Given the description of an element on the screen output the (x, y) to click on. 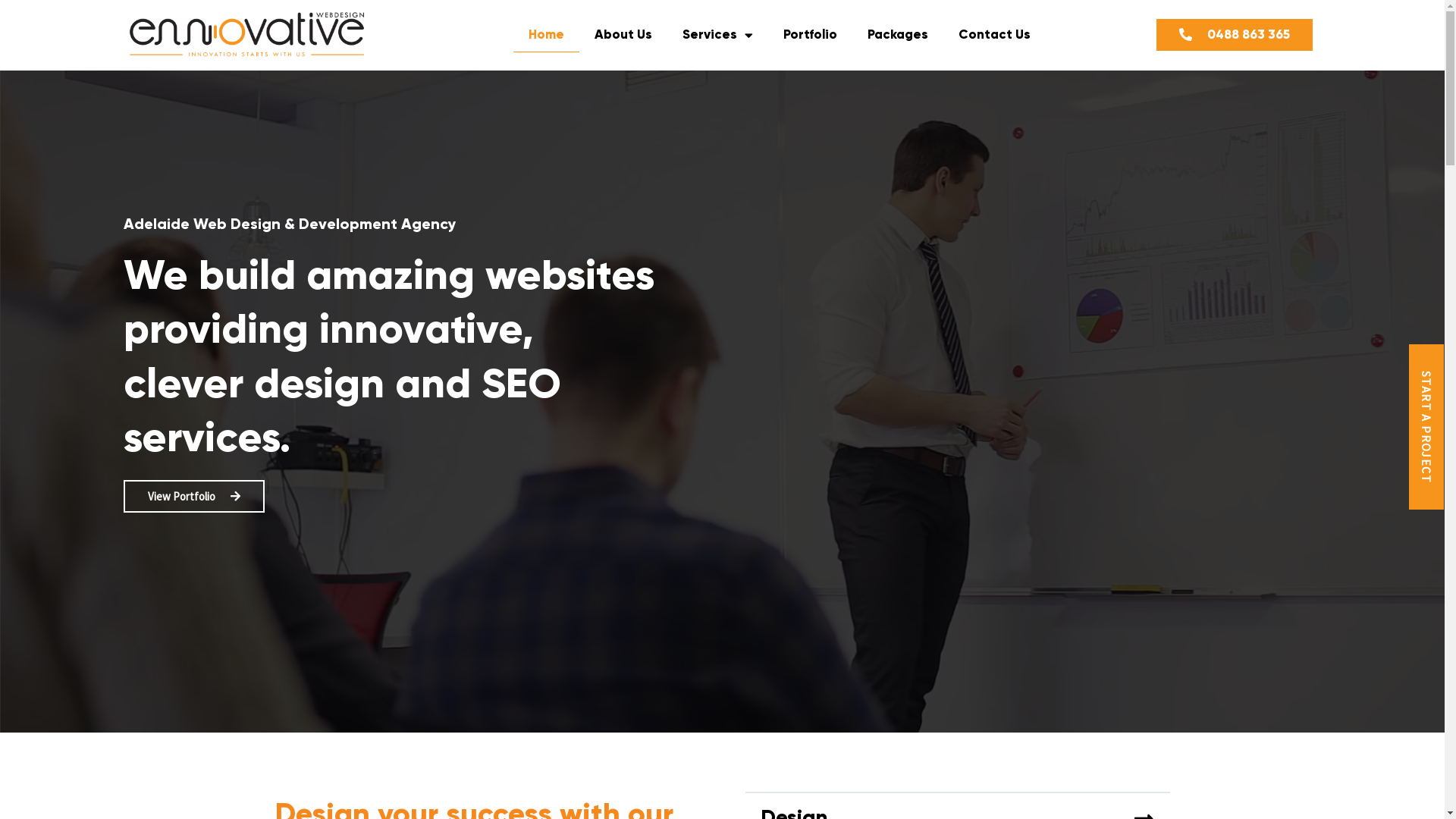
Portfolio Element type: text (810, 34)
0488 863 365 Element type: text (1234, 34)
Packages Element type: text (897, 34)
Services Element type: text (717, 34)
Contact Us Element type: text (994, 34)
About Us Element type: text (623, 34)
Home Element type: text (546, 34)
View Portfolio Element type: text (192, 496)
